Given the description of an element on the screen output the (x, y) to click on. 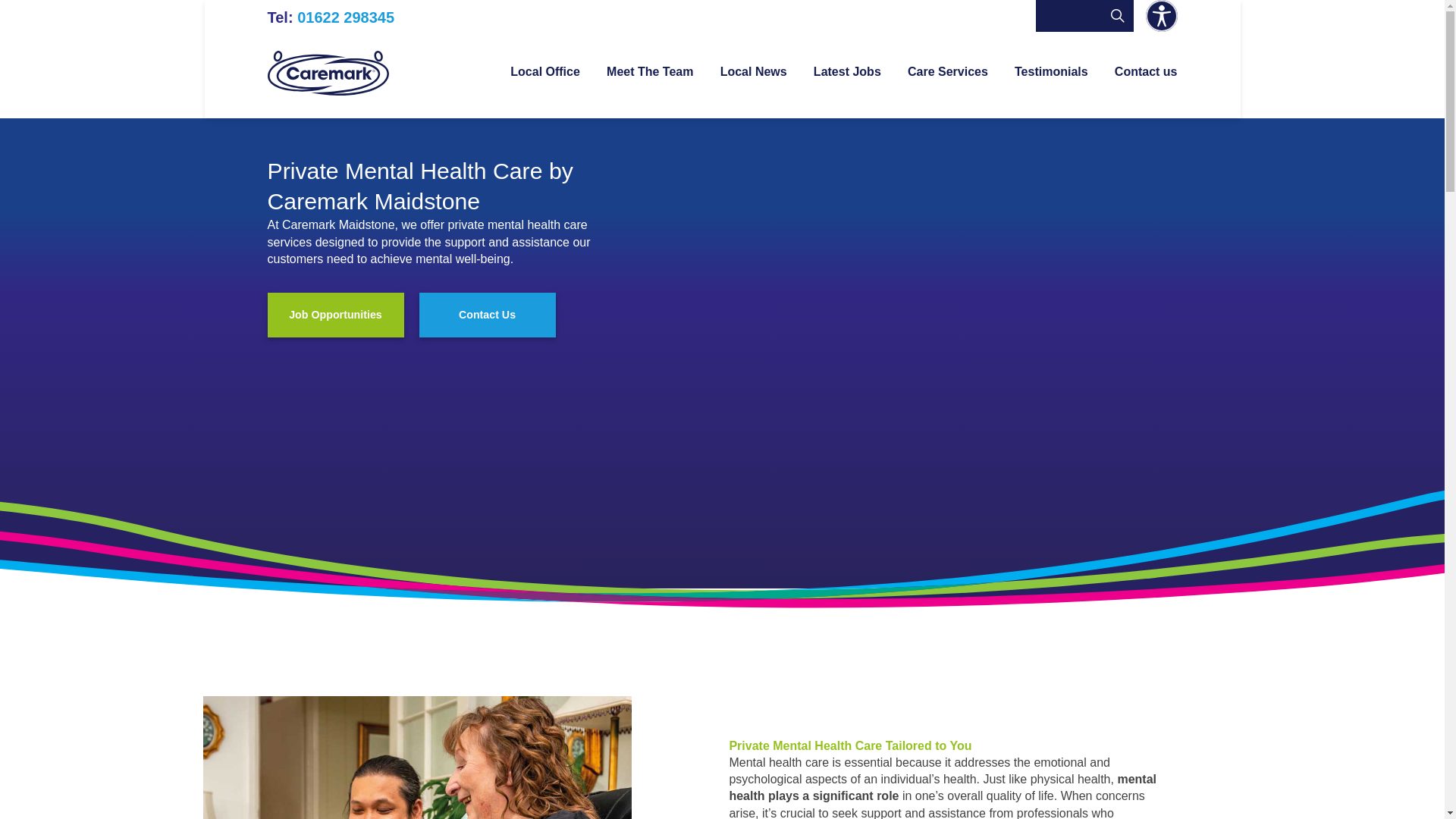
Contact Us (486, 314)
Local News (753, 91)
Job Opportunities (334, 314)
Testimonials (1050, 91)
01622 298345 (345, 17)
Latest Jobs (846, 91)
Contact us (1146, 91)
Meet The Team (650, 91)
Local Office (545, 91)
Care Services (947, 91)
